Given the description of an element on the screen output the (x, y) to click on. 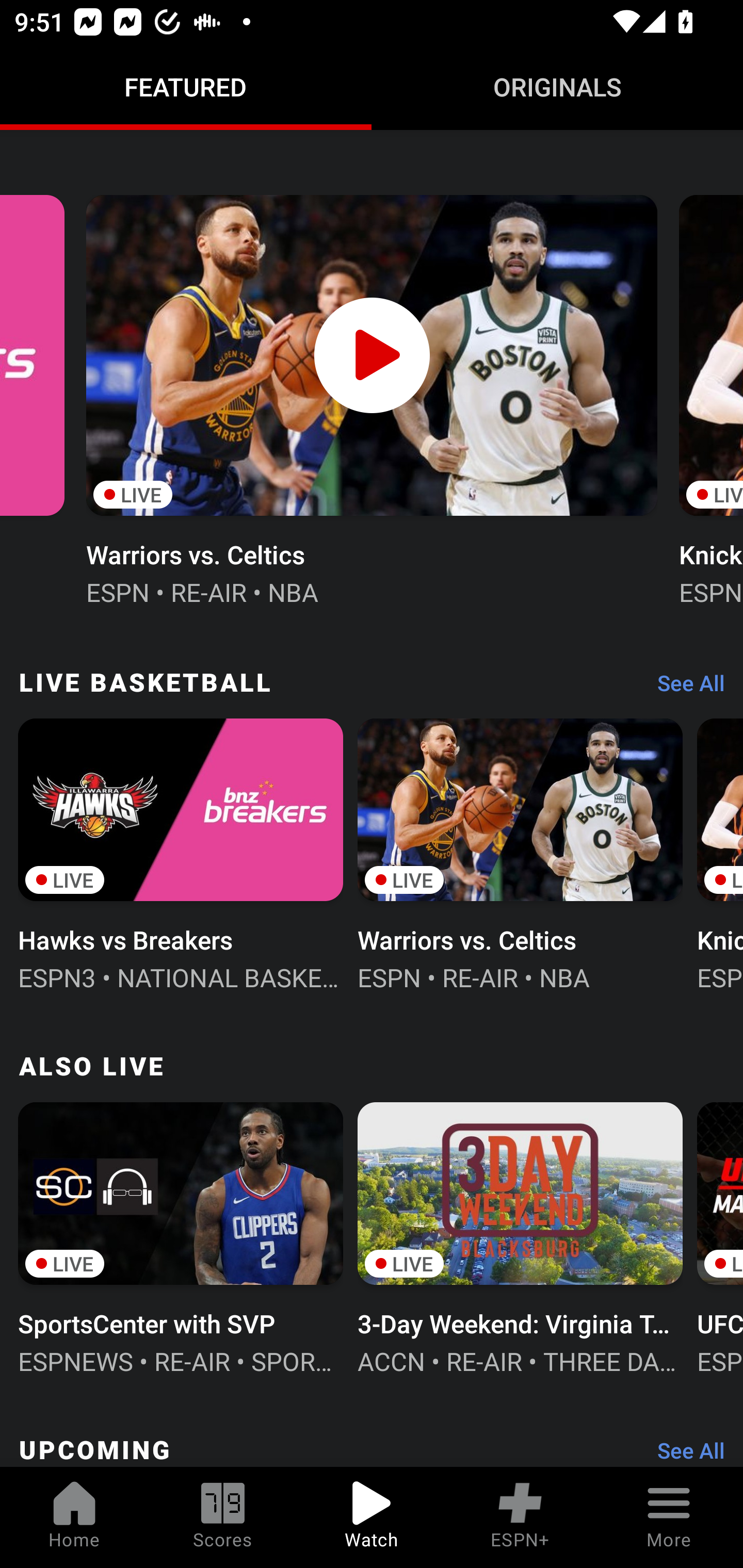
Originals ORIGINALS (557, 86)
 LIVE Warriors vs. Celtics ESPN • RE-AIR • NBA (371, 398)
See All (683, 687)
LIVE Warriors vs. Celtics ESPN • RE-AIR • NBA (519, 852)
See All (683, 1449)
Home (74, 1517)
Scores (222, 1517)
ESPN+ (519, 1517)
More (668, 1517)
